Given the description of an element on the screen output the (x, y) to click on. 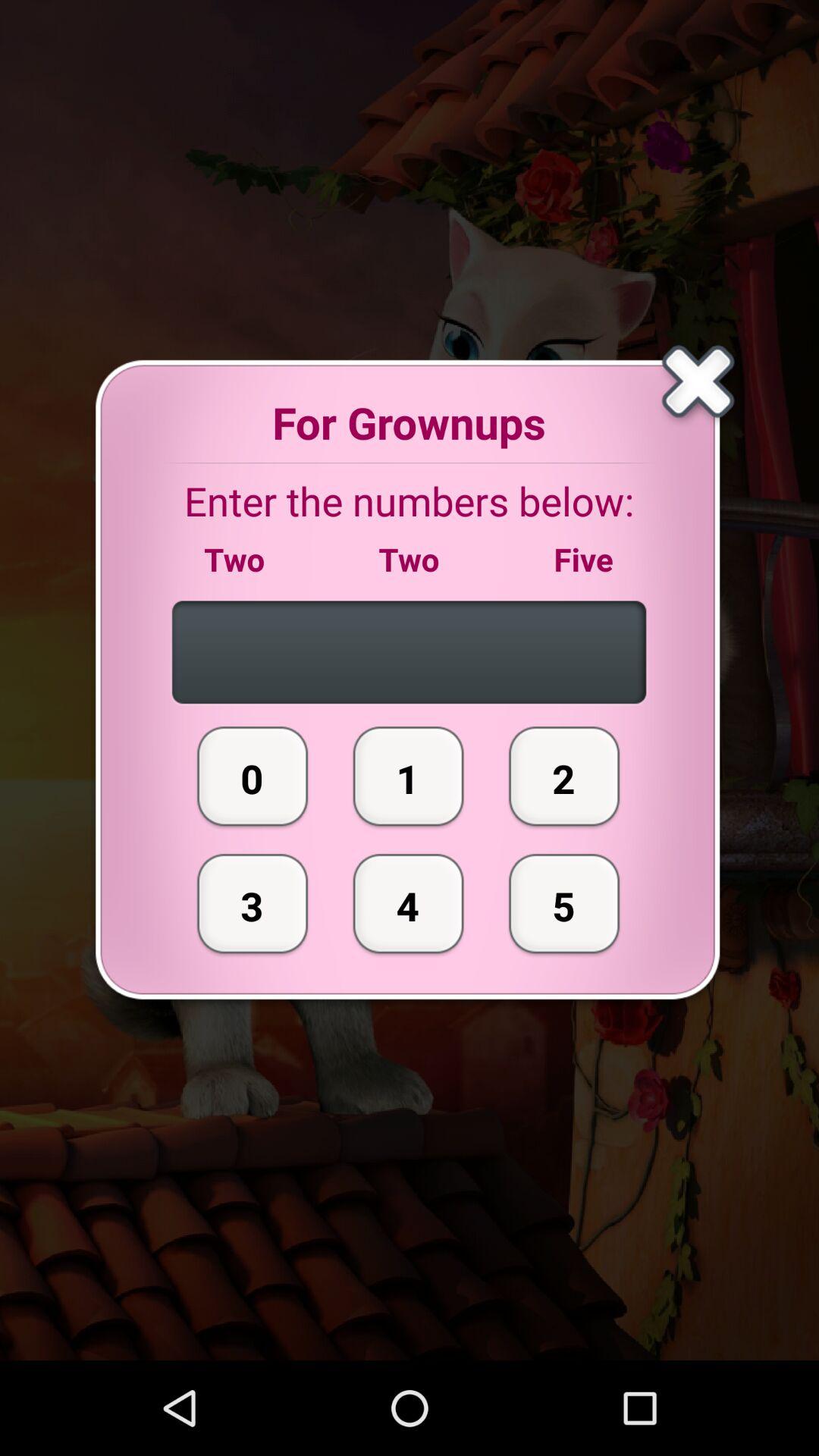
choose the 2 item (564, 776)
